Given the description of an element on the screen output the (x, y) to click on. 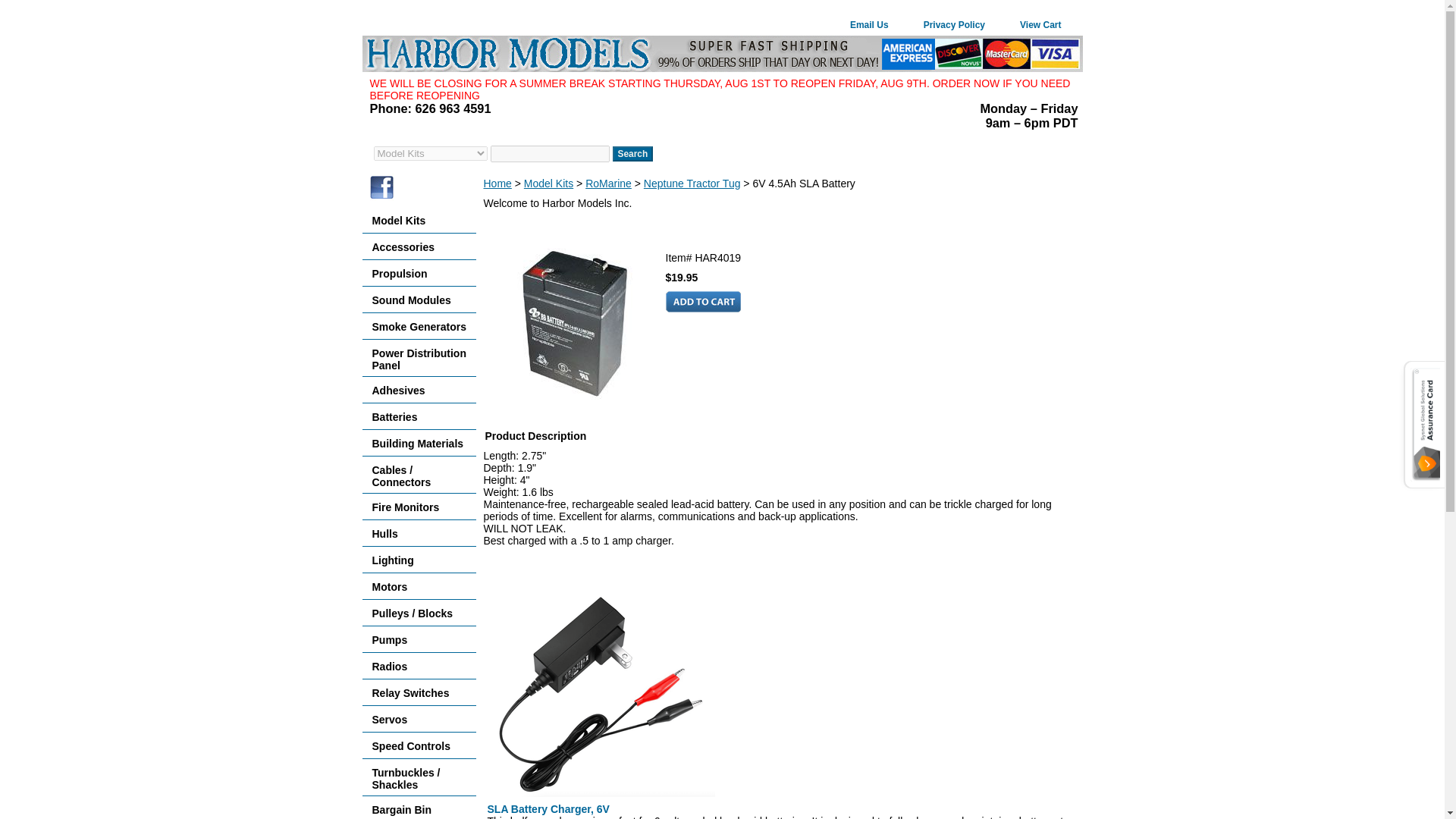
Fire Monitors (419, 506)
Motors (419, 586)
6V 4.5Ah SLA Battery (574, 323)
Accessories (419, 246)
Building Materials (419, 442)
Sound Modules (419, 299)
Smoke Generators (419, 325)
Smoke Generators (419, 325)
Email Us (869, 25)
Bargain Bin (419, 807)
RoMarine (608, 183)
Hulls (419, 533)
Lighting (419, 560)
Model Kits (419, 220)
Add to cart (703, 301)
